Given the description of an element on the screen output the (x, y) to click on. 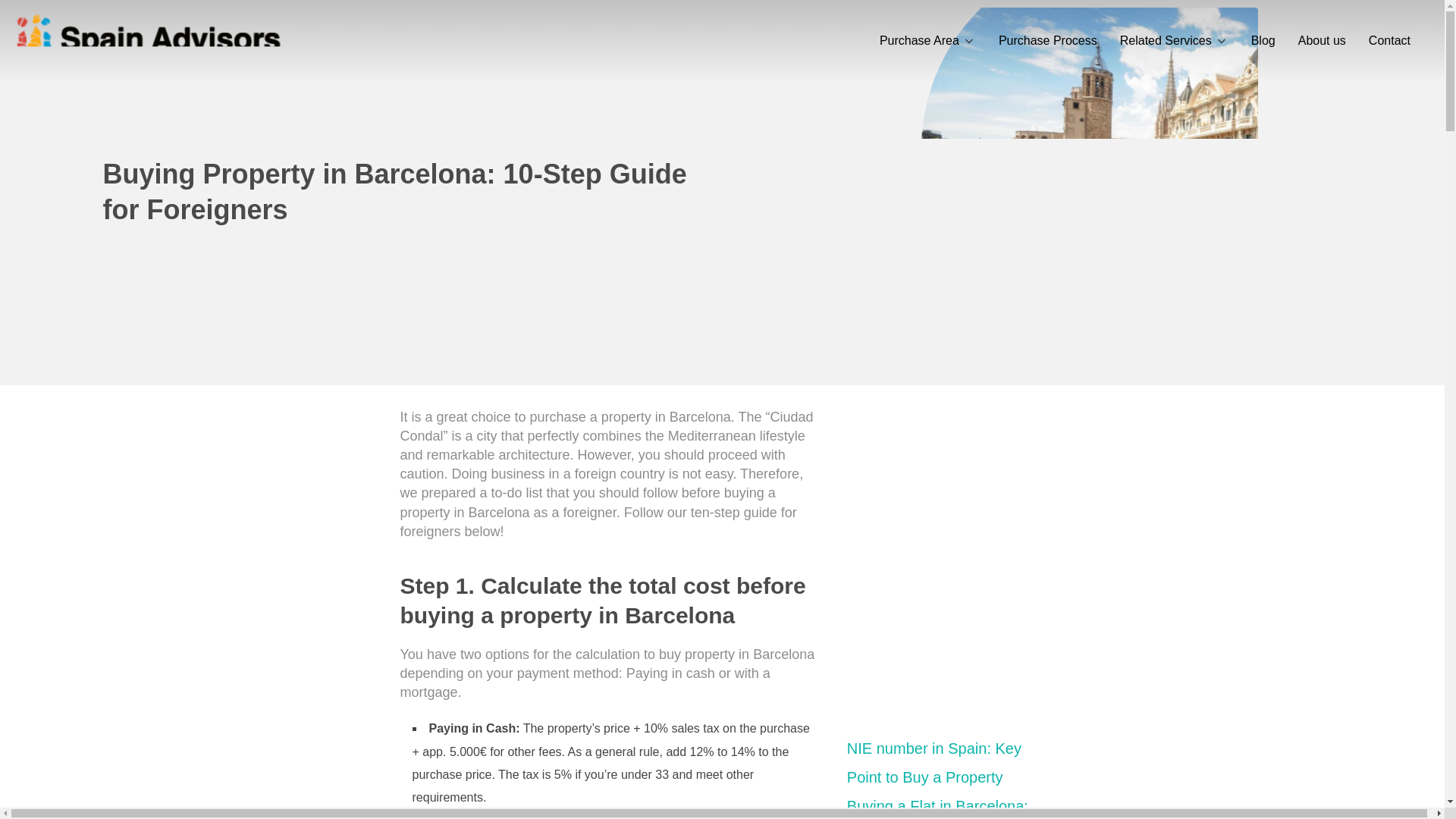
Related Services (1173, 40)
Purchase Process (1047, 40)
About us (1321, 40)
Contact (1389, 40)
Purchase Area (927, 40)
NIE number in Spain: Key Point to Buy a Property (934, 762)
